Given the description of an element on the screen output the (x, y) to click on. 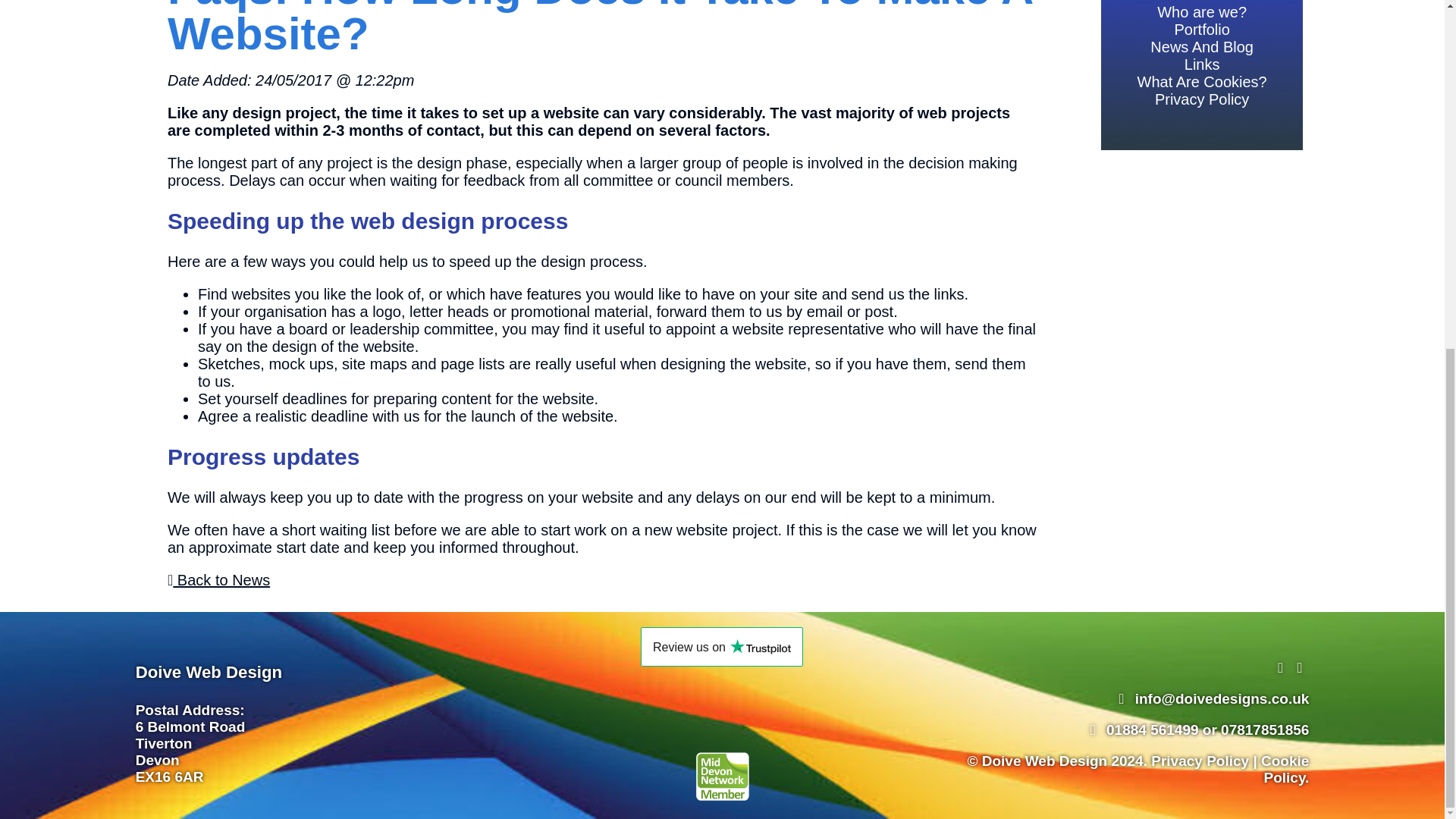
Our Facebook Page (1282, 667)
Customer reviews powered by Trustpilot (721, 646)
Our LinkedIn page (1301, 667)
